Given the description of an element on the screen output the (x, y) to click on. 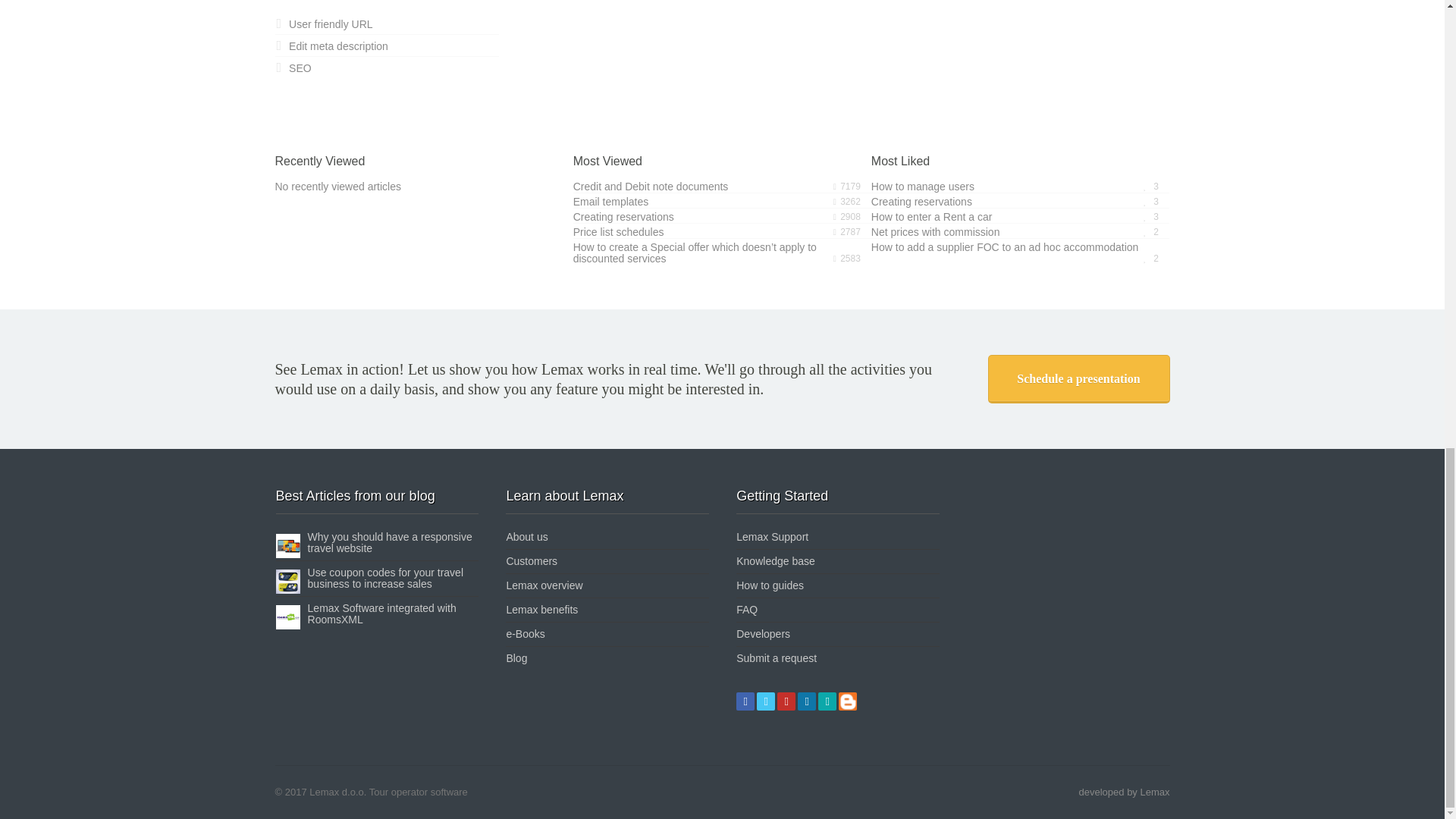
Schedule a presentation (1078, 378)
Edit meta description (331, 46)
Permanent Link to Lemax Software integrated with RoomsXML (382, 613)
User friendly URL (323, 24)
SEO (293, 68)
